Given the description of an element on the screen output the (x, y) to click on. 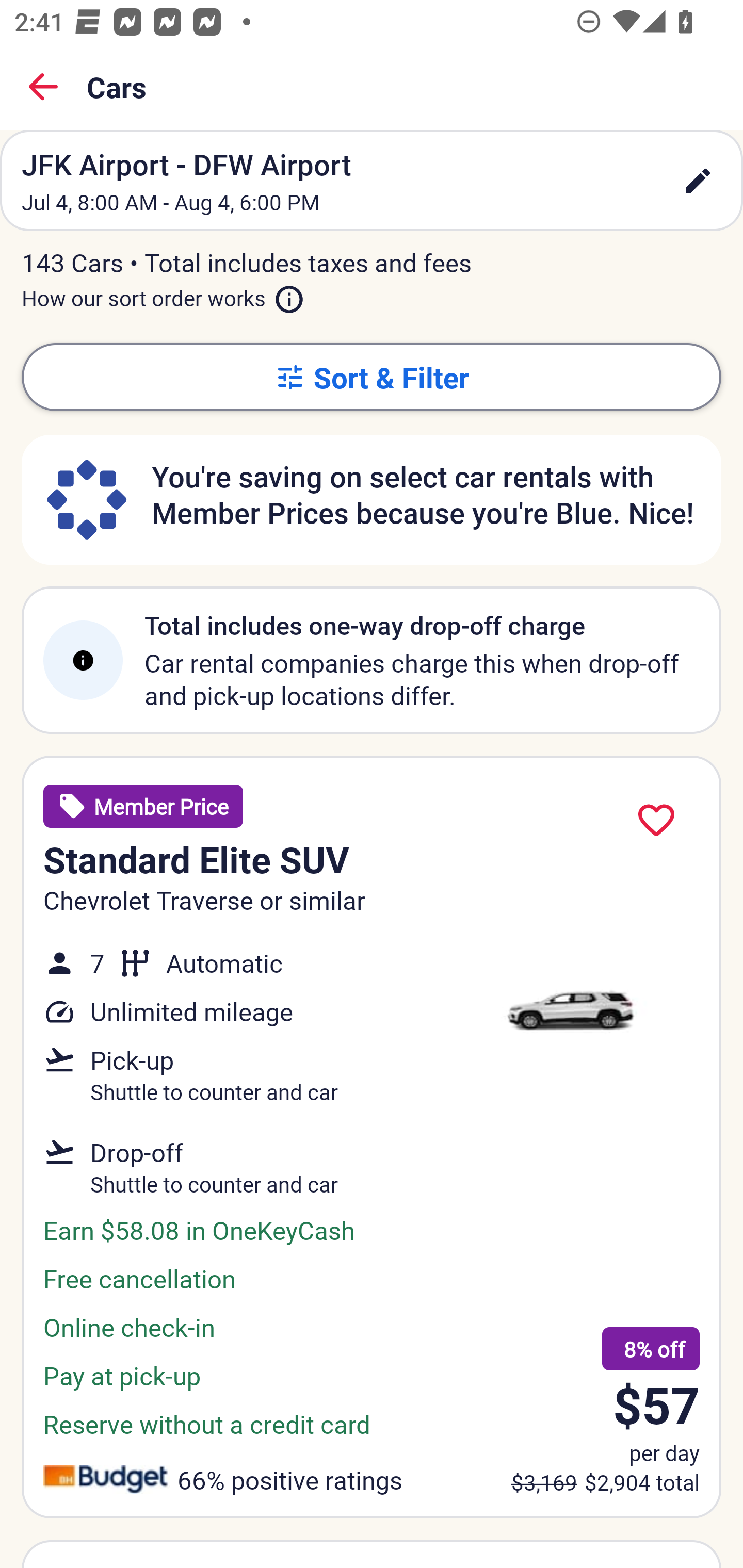
Back (43, 86)
edit (697, 180)
How our sort order works (163, 294)
Sort & Filter (371, 376)
